Given the description of an element on the screen output the (x, y) to click on. 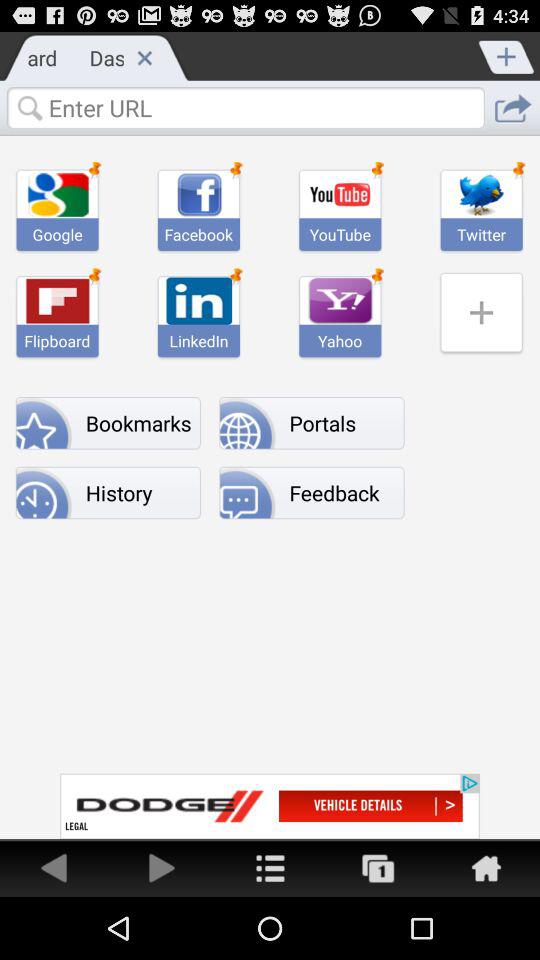
go to web browser home (486, 867)
